Given the description of an element on the screen output the (x, y) to click on. 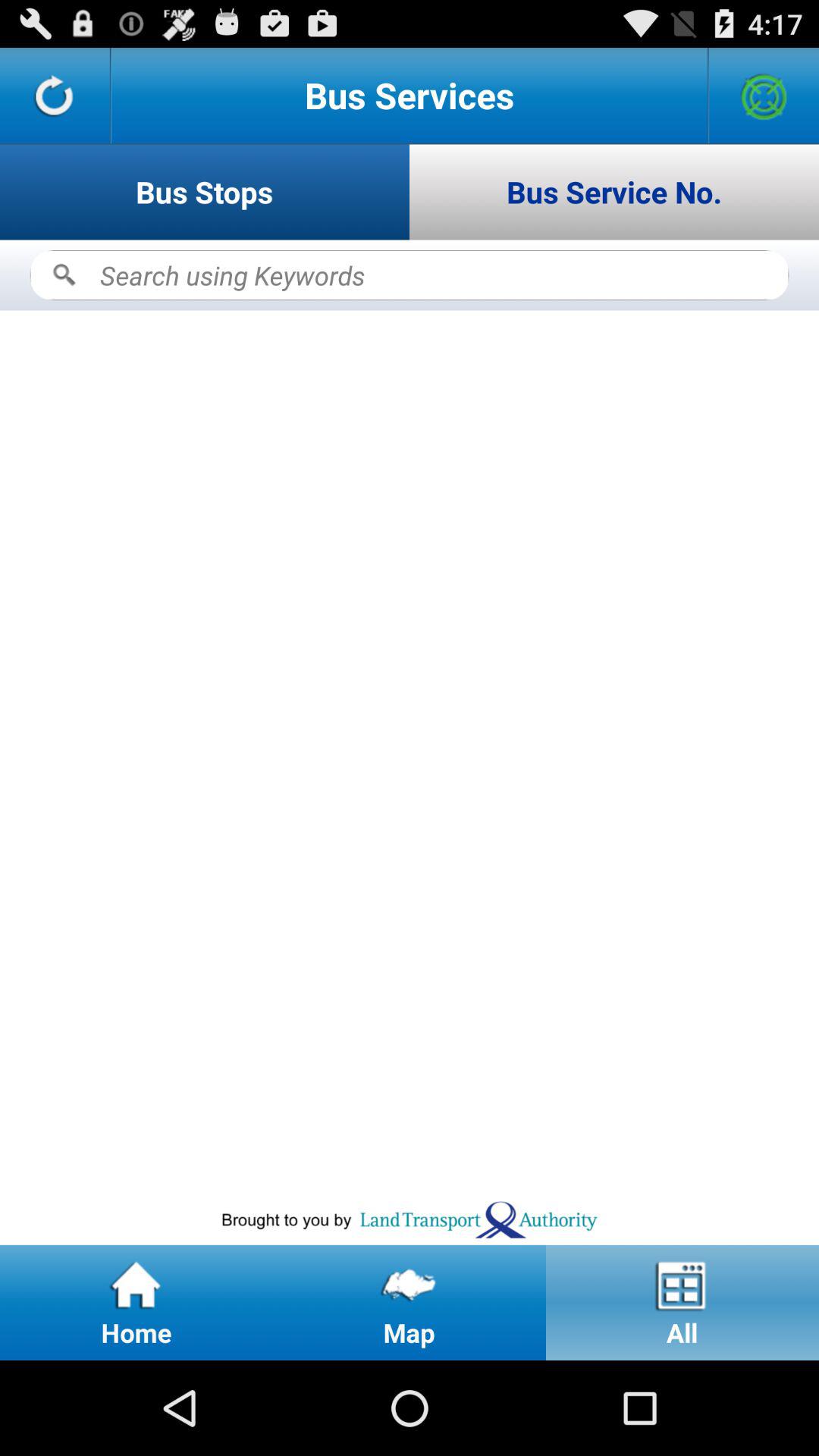
settings (764, 95)
